Given the description of an element on the screen output the (x, y) to click on. 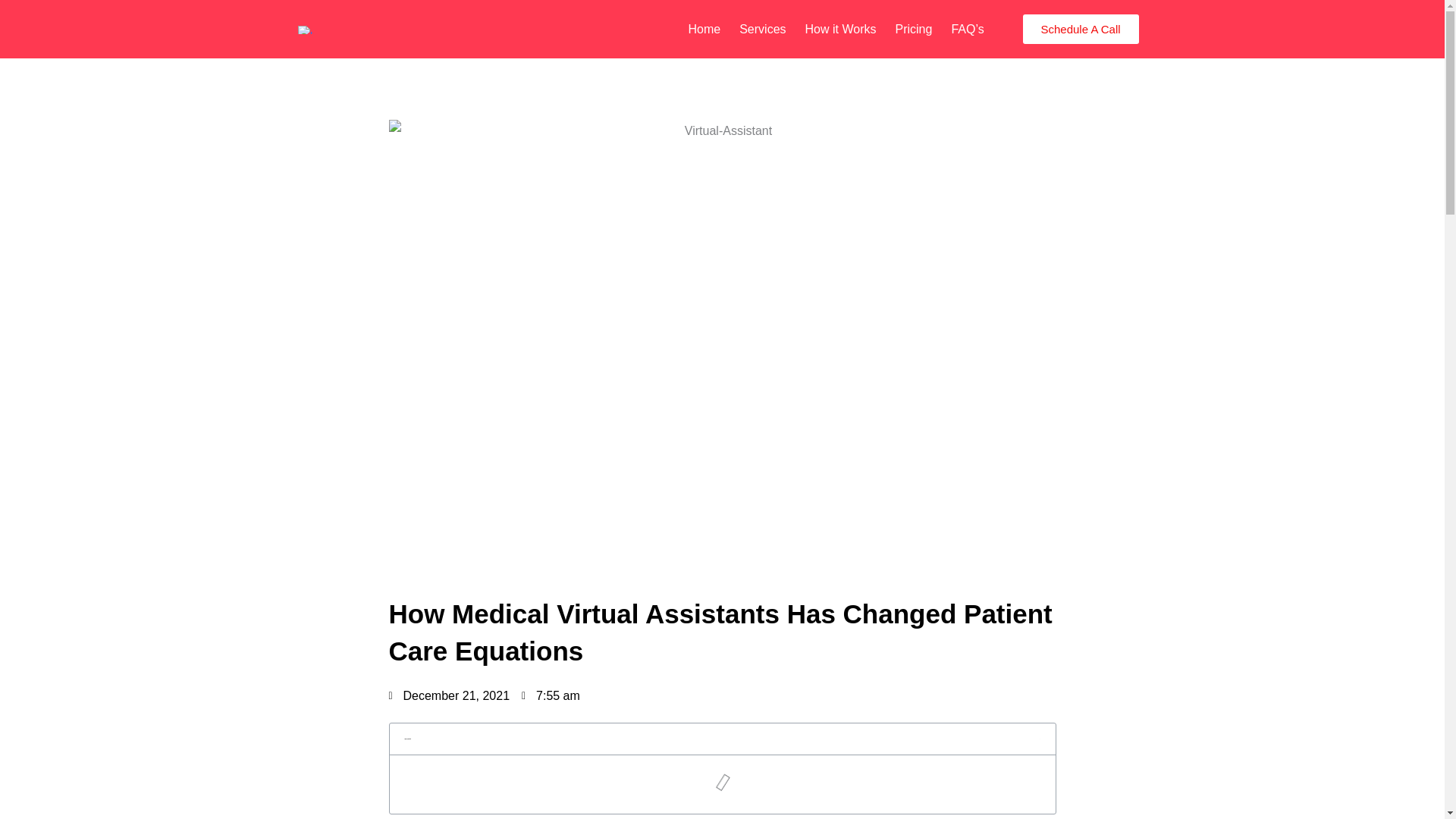
How it Works (840, 29)
December 21, 2021 (448, 695)
Home (703, 29)
Schedule A Call (1080, 29)
Services (762, 29)
Pricing (913, 29)
